Given the description of an element on the screen output the (x, y) to click on. 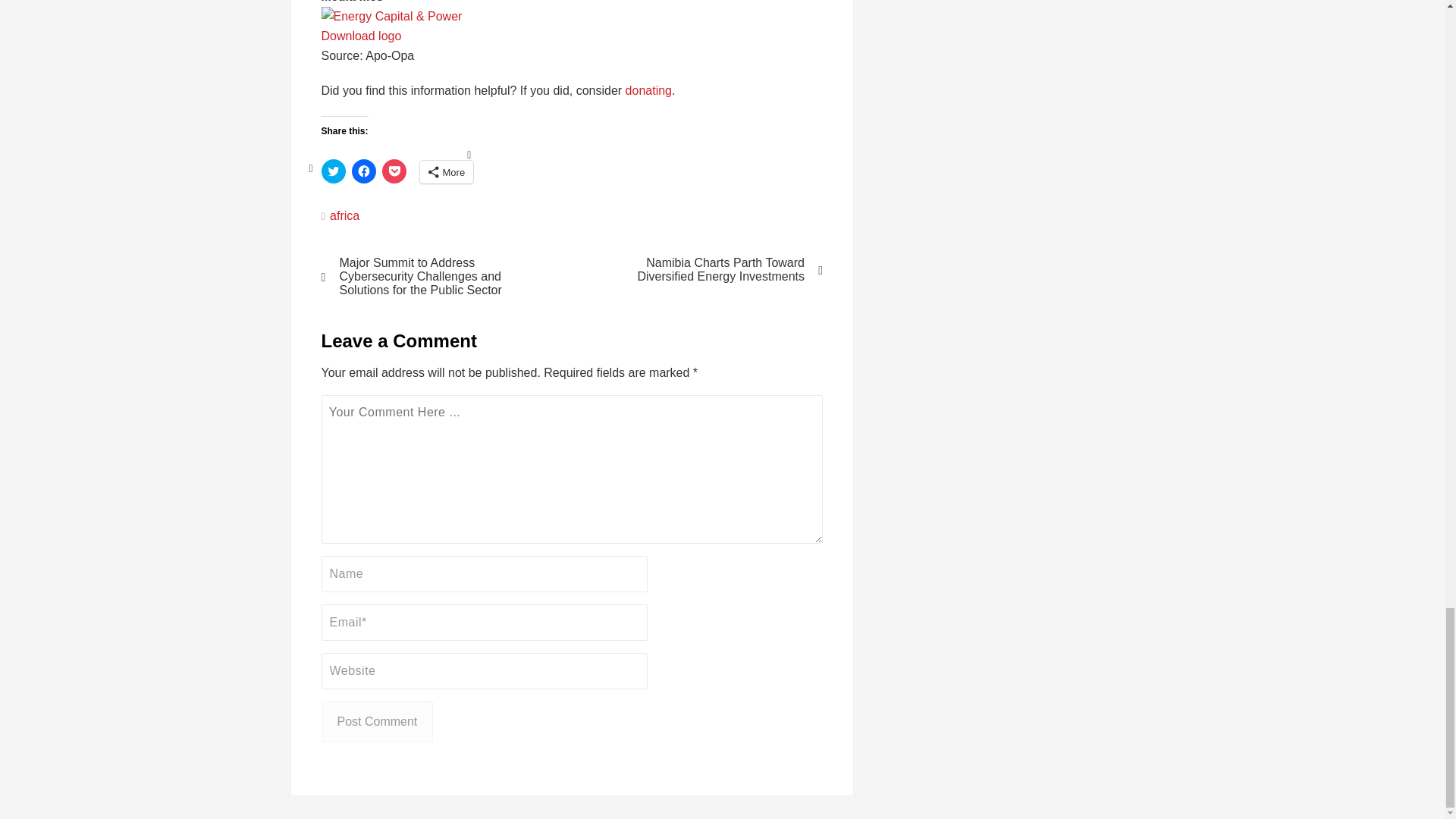
Click to share on Twitter (333, 170)
donating (648, 90)
Click to share on Pocket (393, 170)
Post Comment (377, 721)
More (447, 171)
Post Comment (377, 721)
Namibia Charts Parth Toward Diversified Energy Investments (707, 269)
Click to share on Facebook (363, 170)
africa (344, 215)
